Given the description of an element on the screen output the (x, y) to click on. 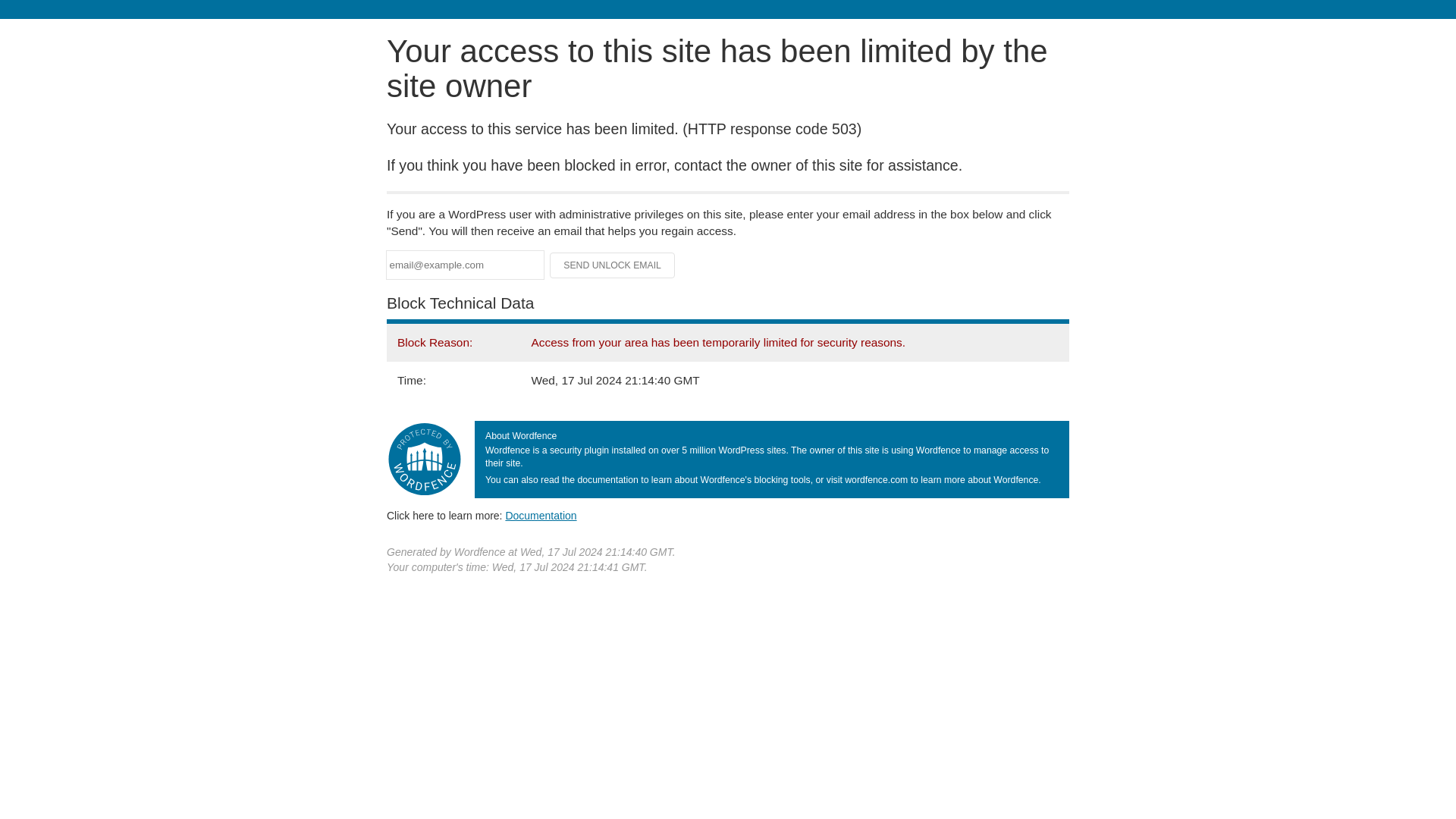
Send Unlock Email (612, 265)
Send Unlock Email (612, 265)
Documentation (540, 515)
